Given the description of an element on the screen output the (x, y) to click on. 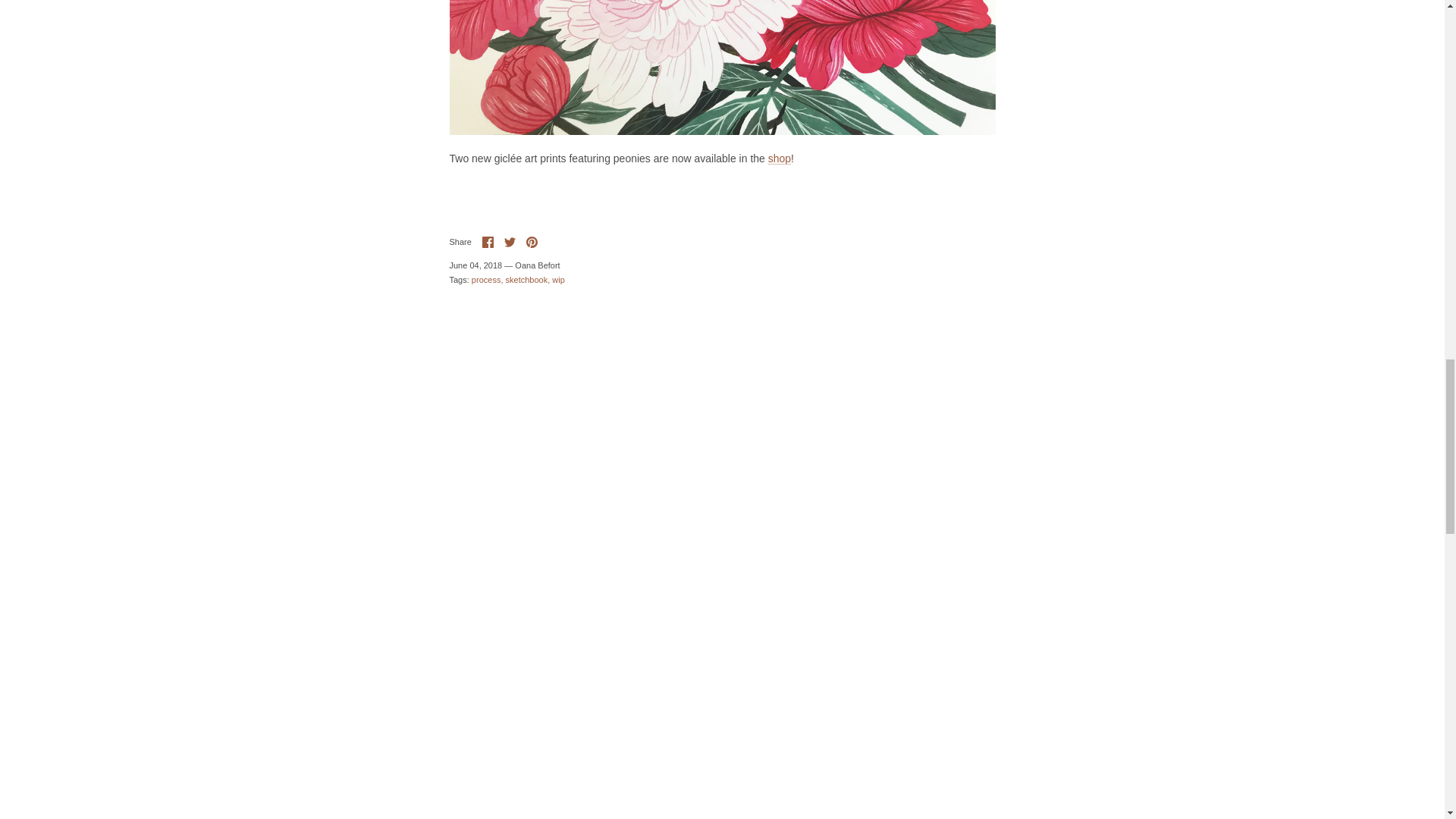
Show articles tagged process (487, 279)
Show articles tagged sketchbook (527, 279)
Twitter (509, 242)
Show articles tagged wip (557, 279)
Pinterest (531, 242)
Facebook (487, 242)
